Given the description of an element on the screen output the (x, y) to click on. 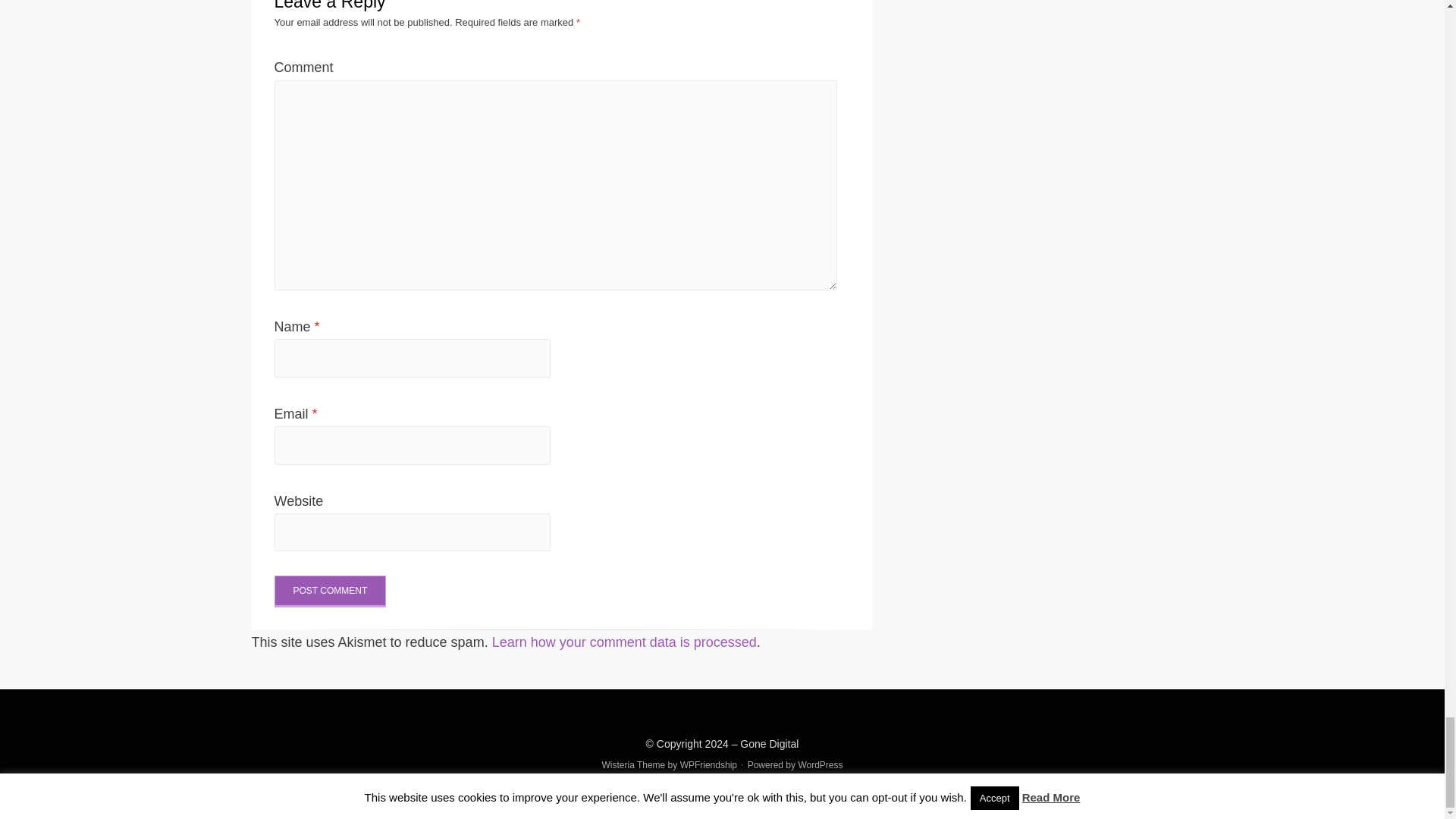
WPFriendship (707, 765)
WordPress (820, 765)
Post Comment (331, 591)
Learn how your comment data is processed (624, 642)
Post Comment (331, 591)
